Given the description of an element on the screen output the (x, y) to click on. 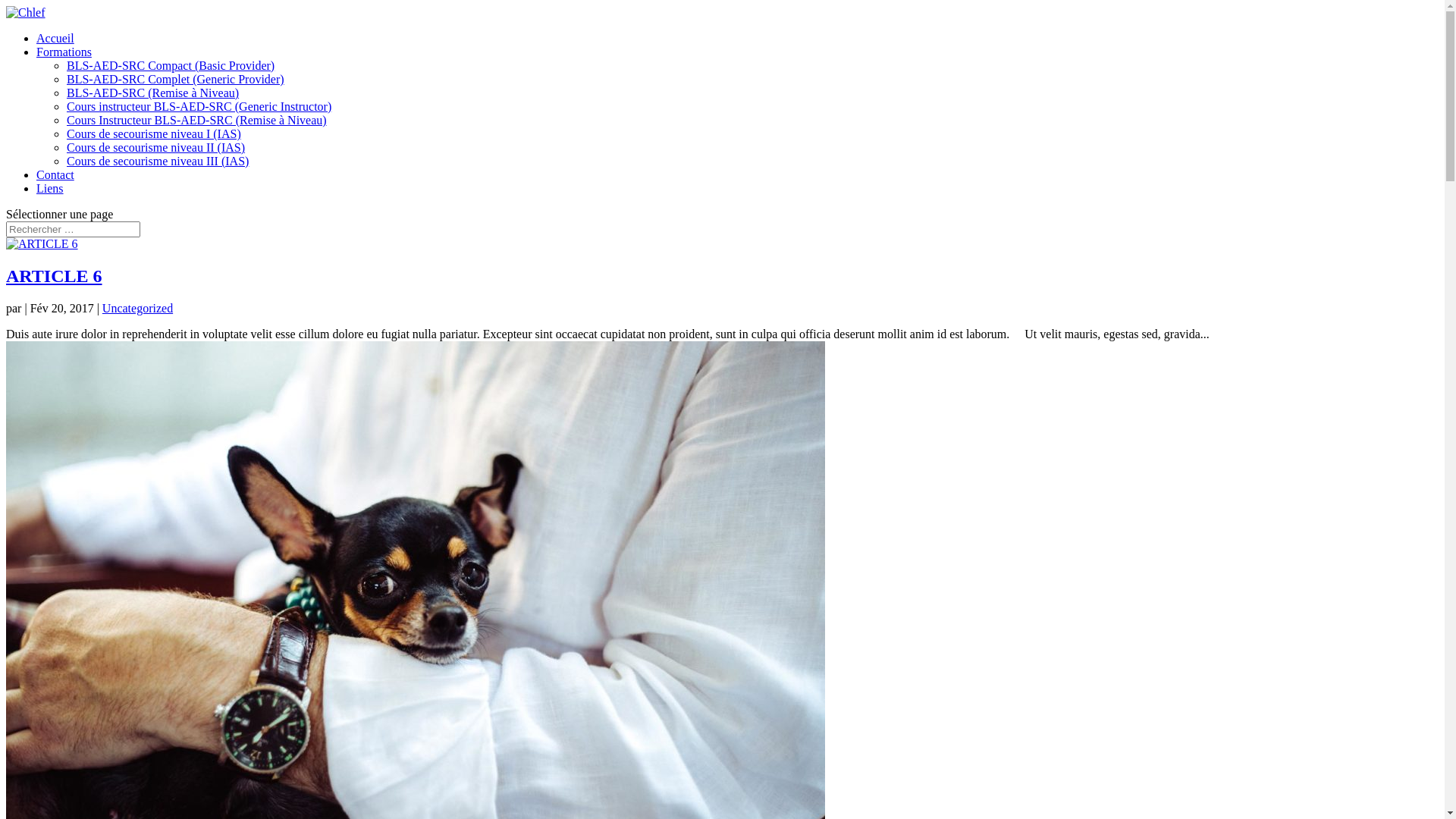
Rechercher: Element type: hover (73, 229)
Cours instructeur BLS-AED-SRC (Generic Instructor) Element type: text (198, 106)
Cours de secourisme niveau III (IAS) Element type: text (157, 160)
Contact Element type: text (55, 174)
Cours de secourisme niveau II (IAS) Element type: text (155, 147)
Cours de secourisme niveau I (IAS) Element type: text (153, 133)
ARTICLE 6 Element type: text (54, 275)
Formations Element type: text (63, 51)
BLS-AED-SRC Compact (Basic Provider) Element type: text (170, 65)
Accueil Element type: text (55, 37)
Liens Element type: text (49, 188)
Uncategorized Element type: text (137, 307)
BLS-AED-SRC Complet (Generic Provider) Element type: text (175, 78)
